Given the description of an element on the screen output the (x, y) to click on. 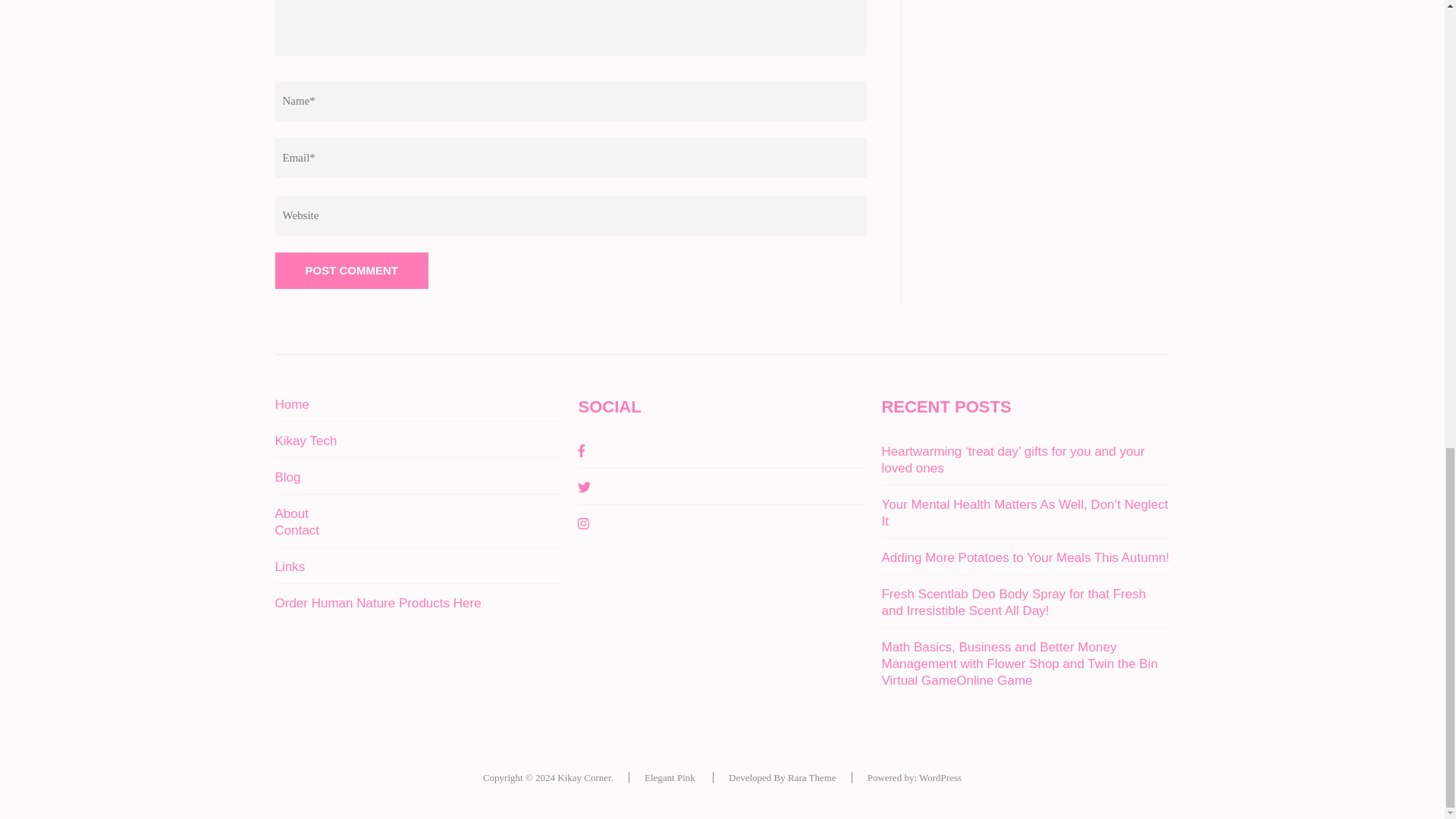
Instagram (583, 523)
Post Comment (351, 270)
Links (289, 565)
Kikay Tech (305, 440)
About (291, 513)
Twitter (584, 486)
Order Human Nature Products Here (377, 602)
Contact (296, 529)
Facebook (581, 450)
Blog (287, 476)
Home (291, 403)
Post Comment (351, 270)
